Given the description of an element on the screen output the (x, y) to click on. 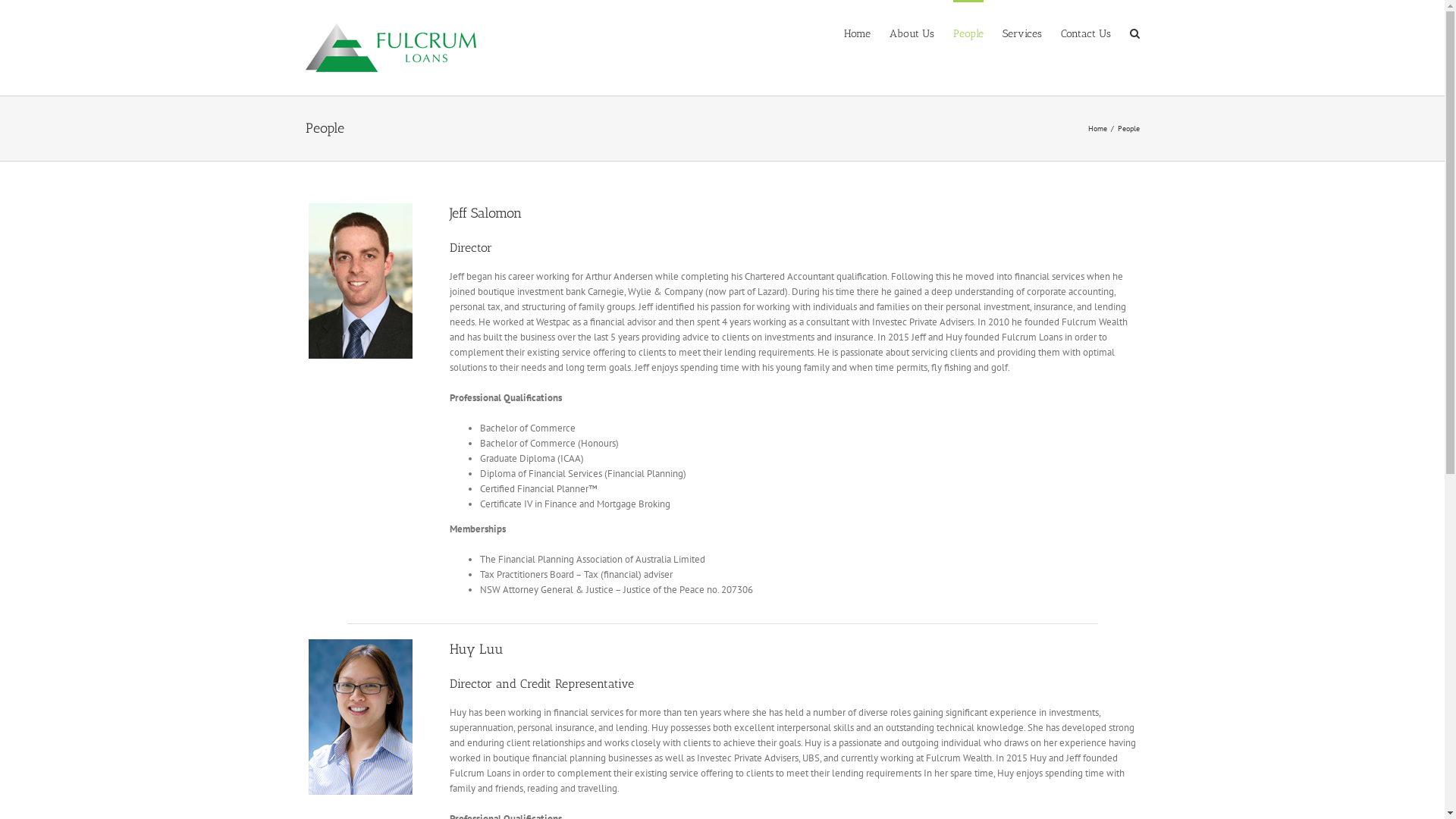
About Us Element type: text (910, 32)
Contact Us Element type: text (1085, 32)
Home Element type: text (1096, 128)
Services Element type: text (1021, 32)
People Element type: text (967, 32)
Home Element type: text (856, 32)
